Given the description of an element on the screen output the (x, y) to click on. 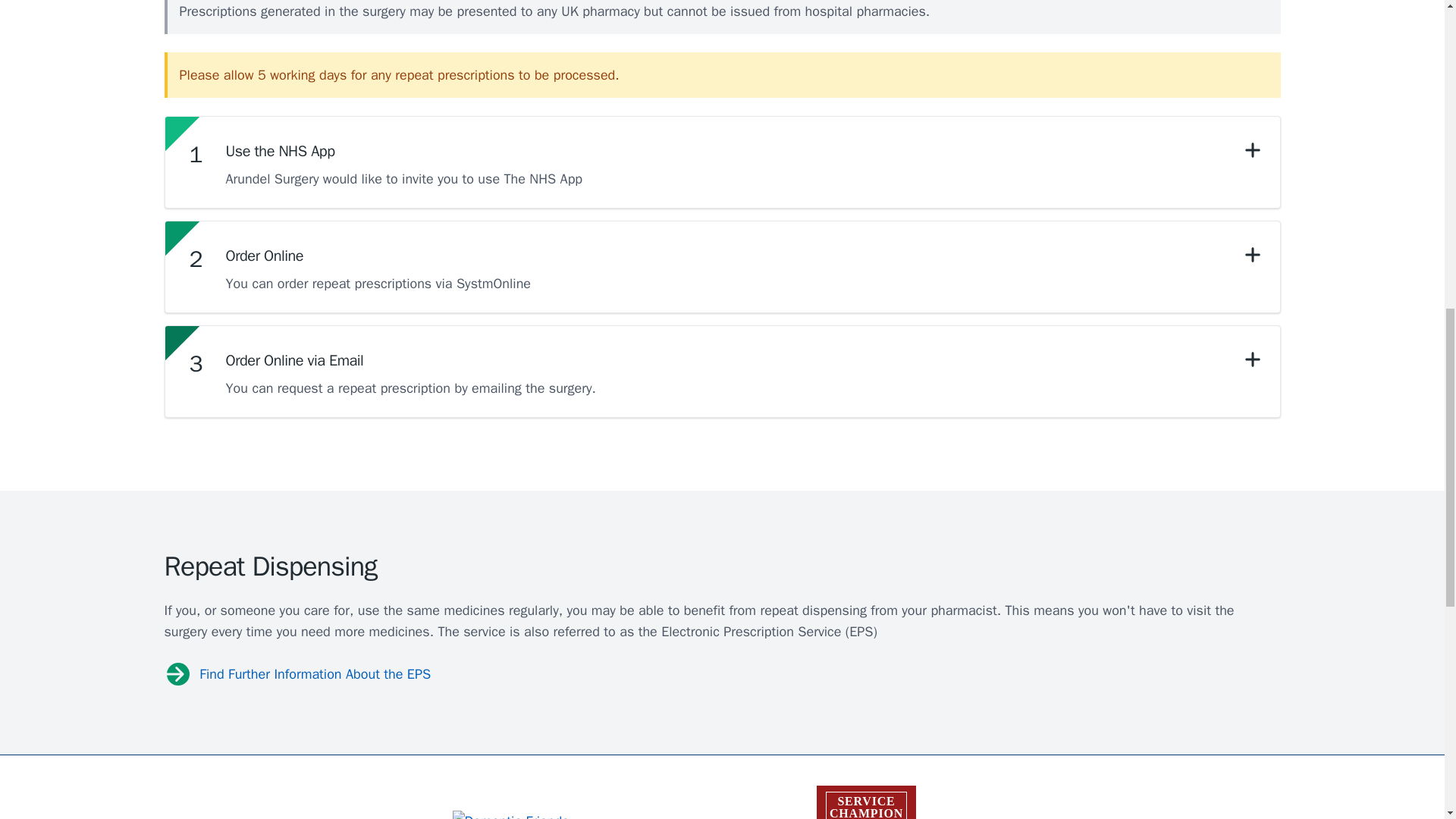
  Find Further Information About the EPS (865, 802)
